Given the description of an element on the screen output the (x, y) to click on. 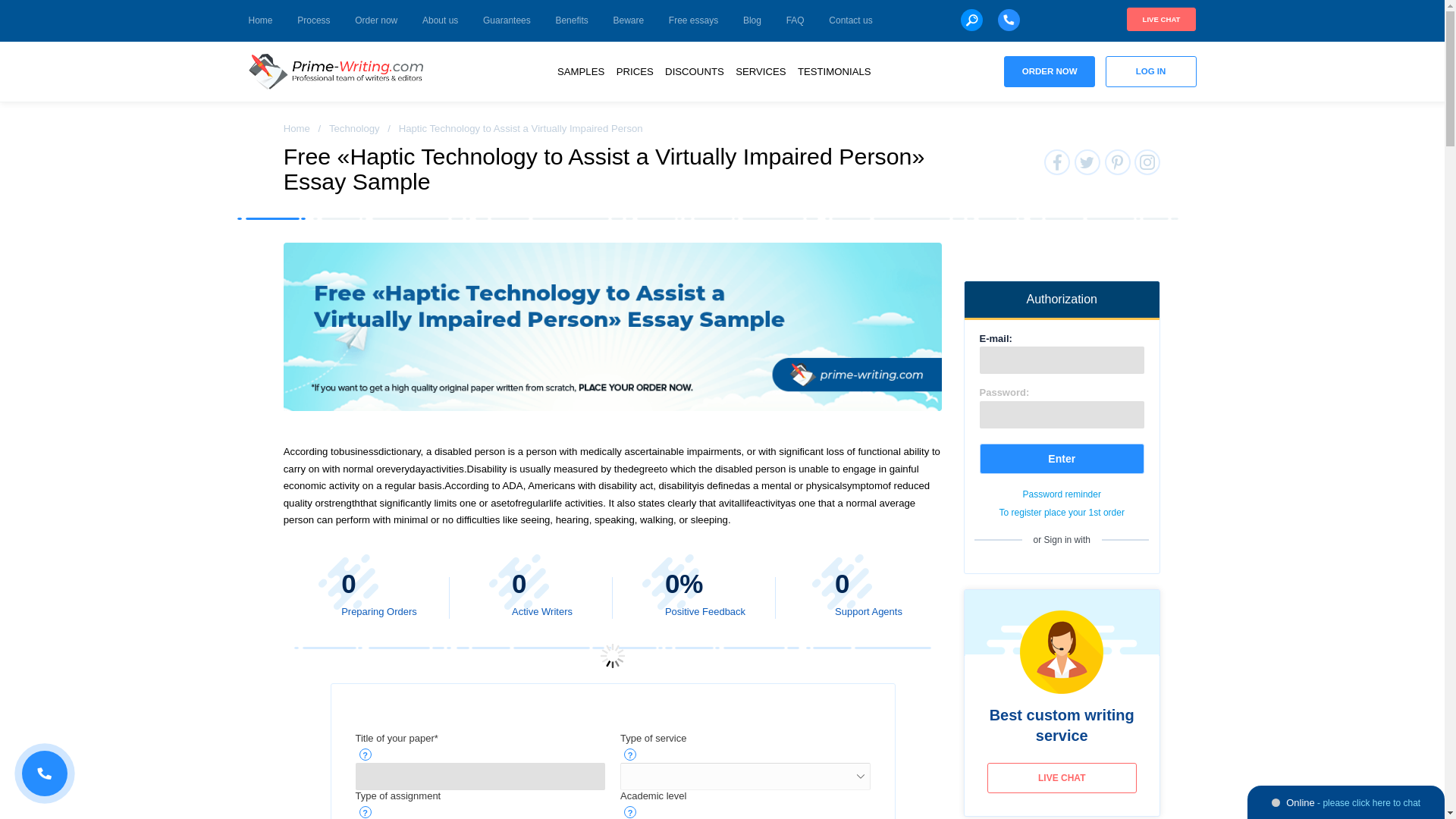
SAMPLES (580, 71)
Enter (1061, 458)
DISCOUNTS (694, 71)
Enter (1061, 458)
Contact us (850, 20)
Home (296, 128)
PRICES (634, 71)
essays.prime-writing.com (335, 71)
TESTIMONIALS (834, 71)
Free essays (692, 20)
Technology (354, 128)
SERVICES (760, 71)
Haptic Technology to Assist a Virtually Impaired Person (612, 326)
LOG IN (1150, 71)
Guarantees (507, 20)
